Given the description of an element on the screen output the (x, y) to click on. 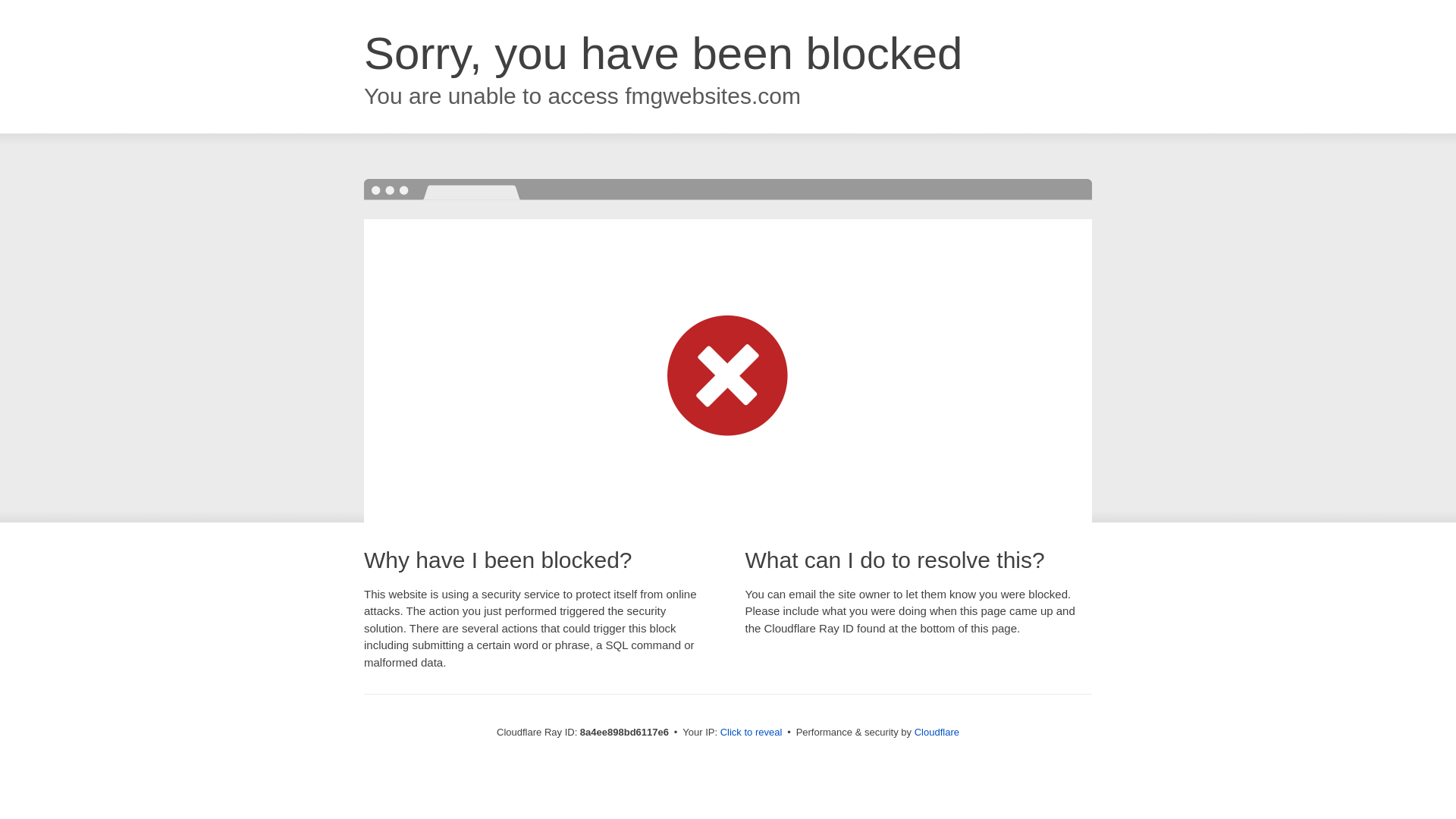
Click to reveal (751, 732)
Cloudflare (936, 731)
